Given the description of an element on the screen output the (x, y) to click on. 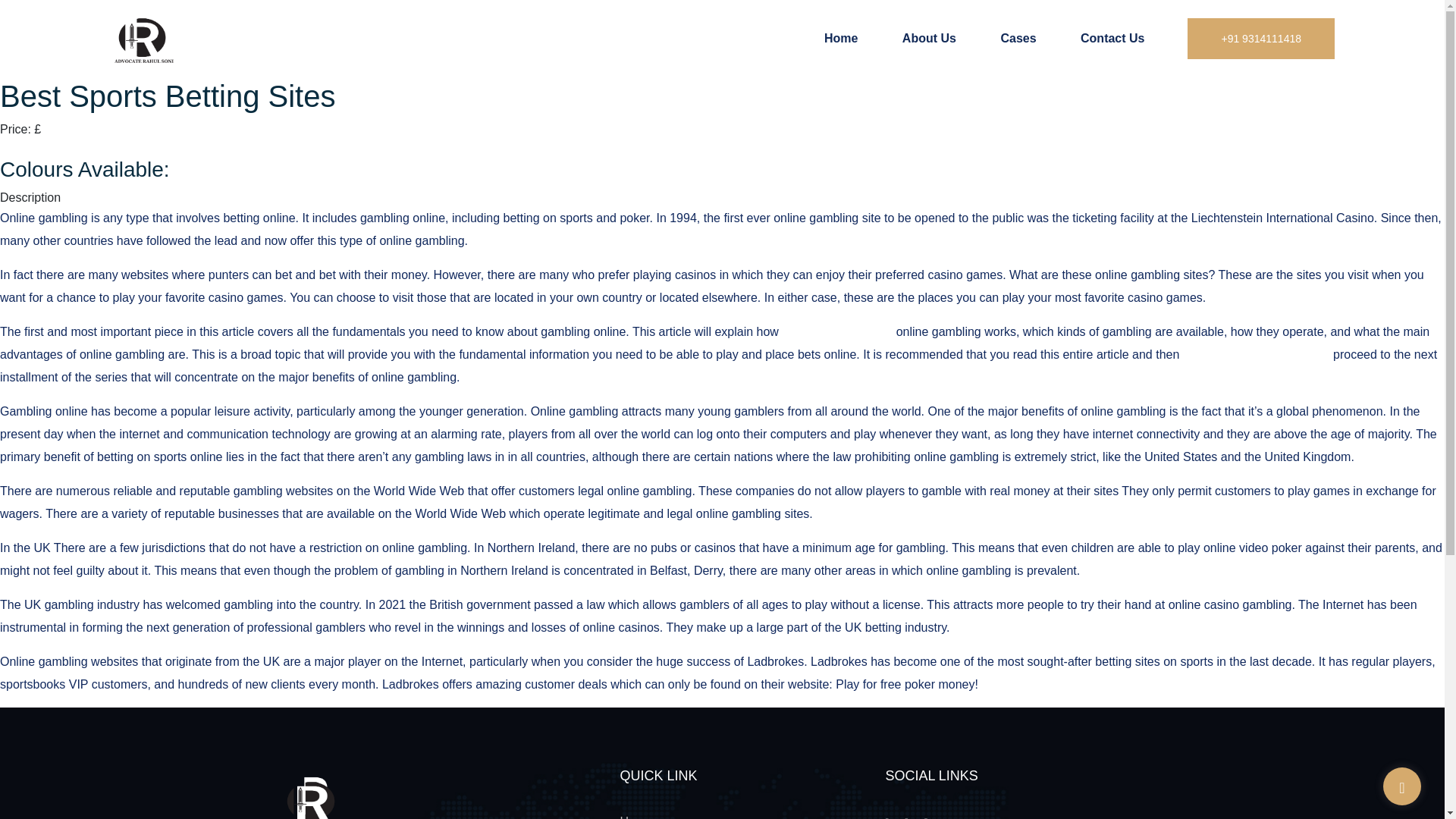
Home (636, 816)
Description (30, 196)
solitario spider gratis online (1256, 354)
About Us (929, 38)
Contact Us (1111, 38)
Go to Top (1401, 787)
Home (840, 38)
spider gioco solitario (836, 331)
Shopping link (36, 146)
Cases (1018, 38)
